Given the description of an element on the screen output the (x, y) to click on. 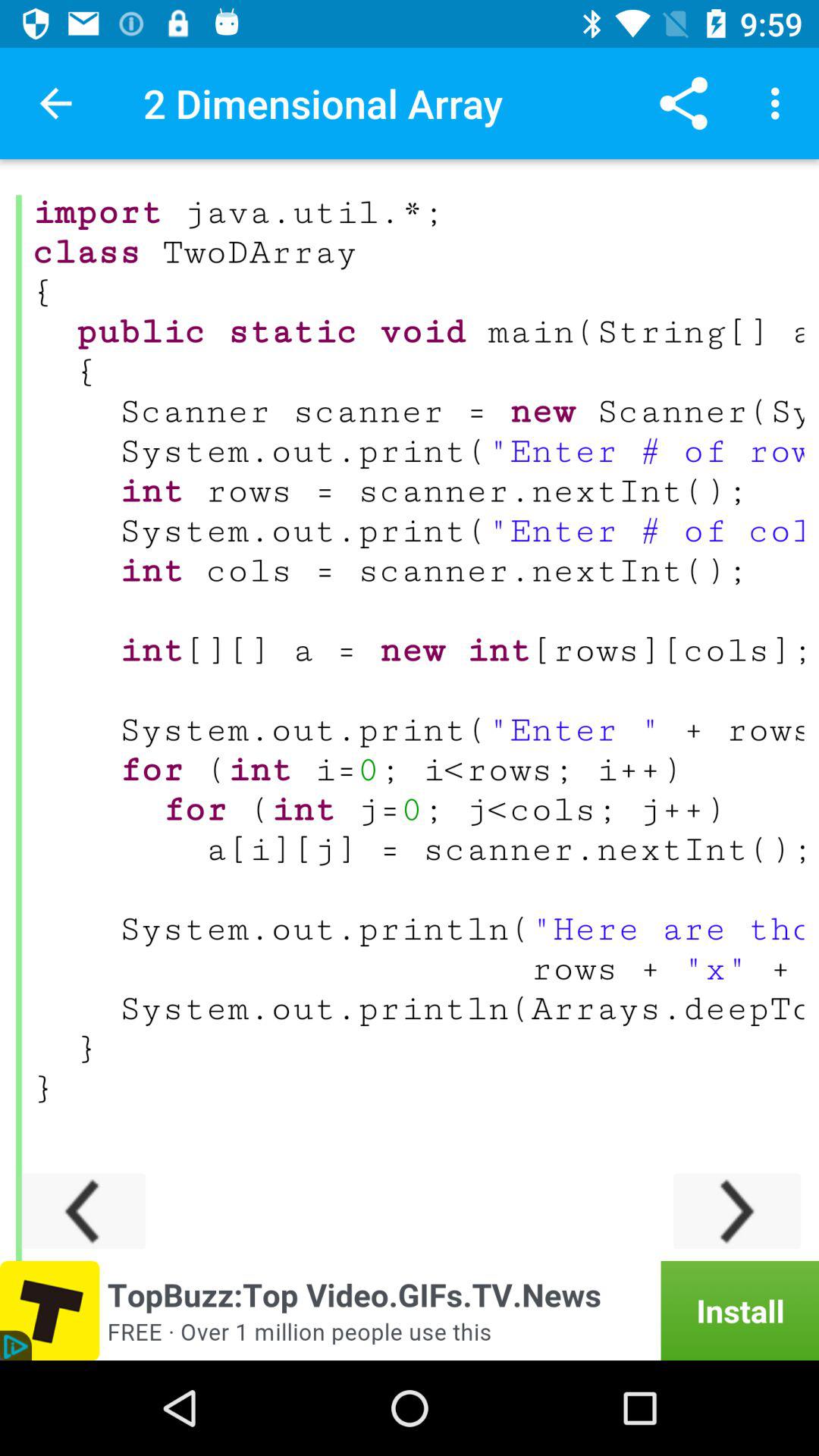
advertisement page (409, 1310)
